Given the description of an element on the screen output the (x, y) to click on. 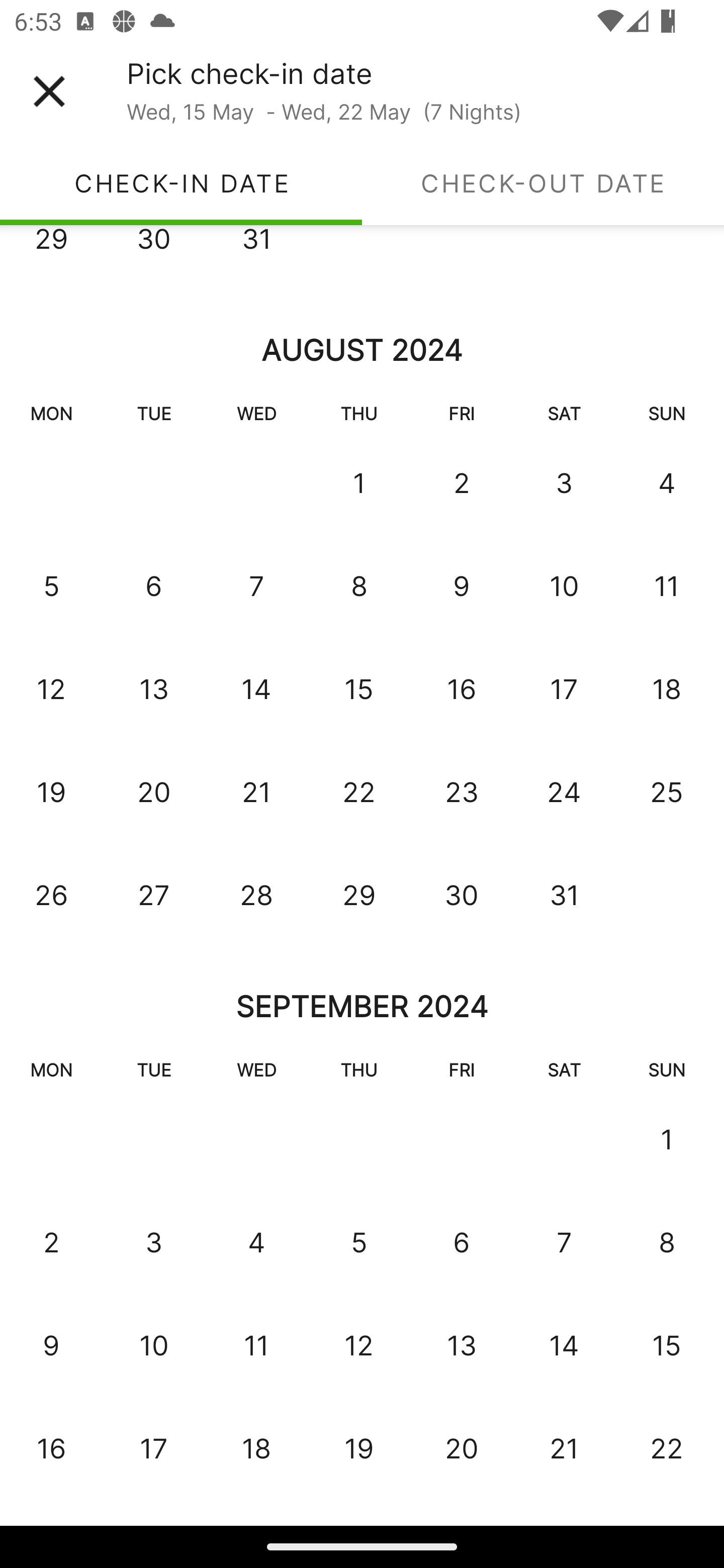
Check-out Date CHECK-OUT DATE (543, 183)
